Given the description of an element on the screen output the (x, y) to click on. 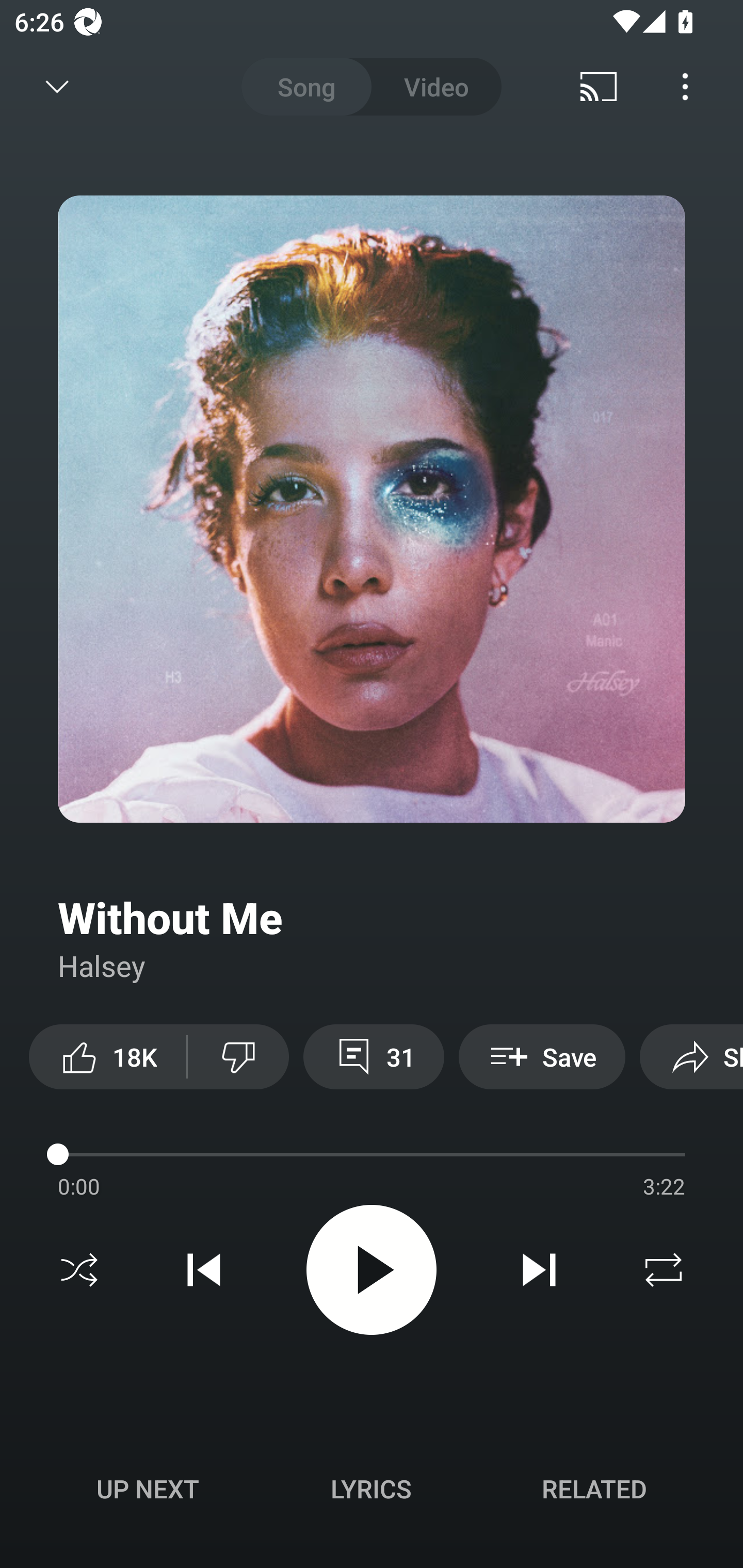
Minimize (57, 86)
Cast. Disconnected (598, 86)
Menu (684, 86)
18K like this video along with 18,871 other people (106, 1056)
Dislike (238, 1056)
31 View 31 comments (373, 1056)
Save Save to playlist (541, 1056)
Share (691, 1056)
Play video (371, 1269)
Shuffle off (79, 1269)
Previous track (203, 1269)
Next track (538, 1269)
Repeat off (663, 1269)
Up next UP NEXT Lyrics LYRICS Related RELATED (371, 1491)
Lyrics LYRICS (370, 1488)
Related RELATED (594, 1488)
